Given the description of an element on the screen output the (x, y) to click on. 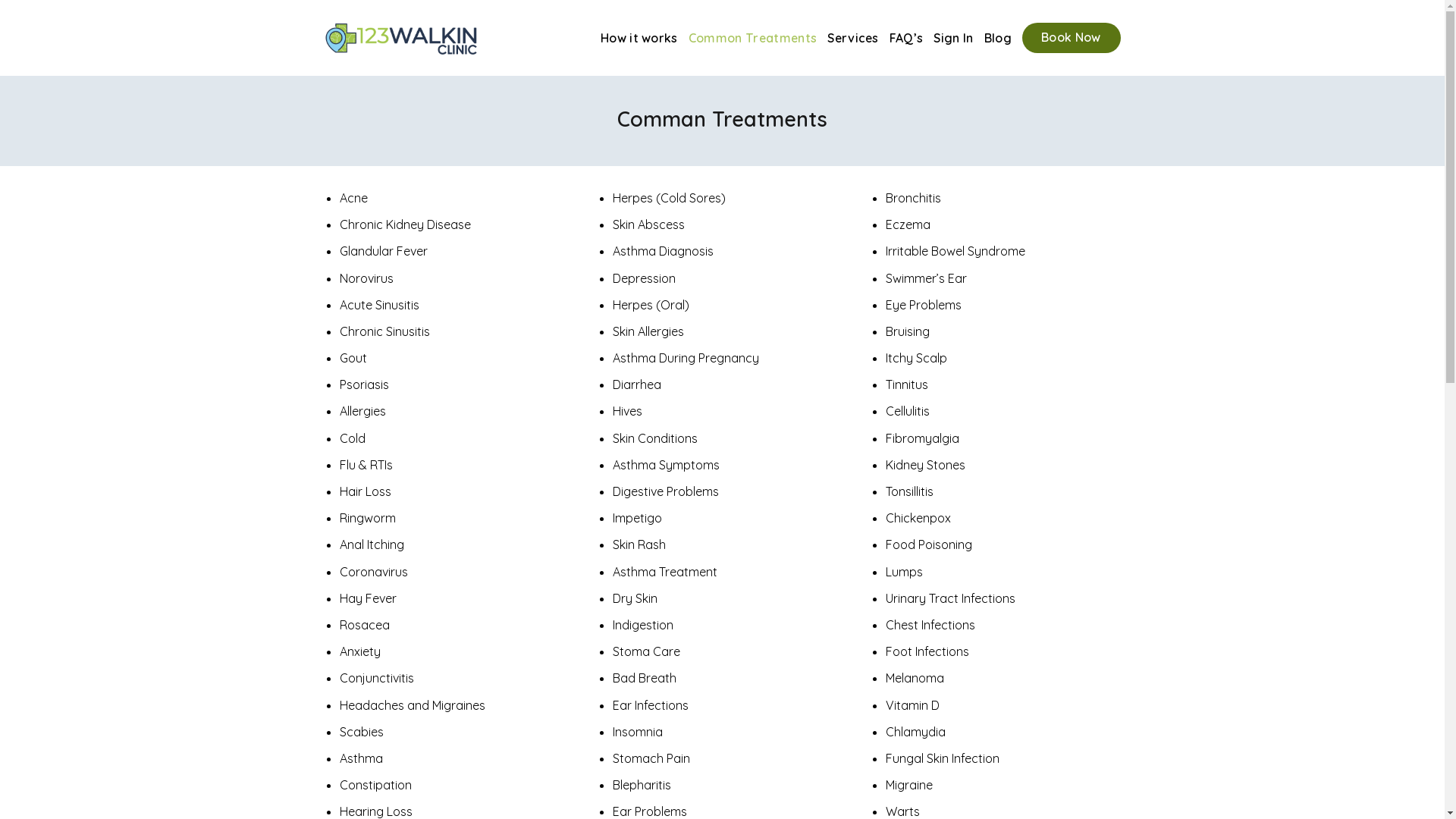
Common Treatments Element type: text (752, 37)
Book Now Element type: text (1071, 37)
123 Walkin Clinic - Your Virtual Clinic Element type: hover (400, 37)
Blog Element type: text (997, 37)
Sign In Element type: text (952, 37)
How it works Element type: text (638, 37)
Services Element type: text (852, 37)
